Given the description of an element on the screen output the (x, y) to click on. 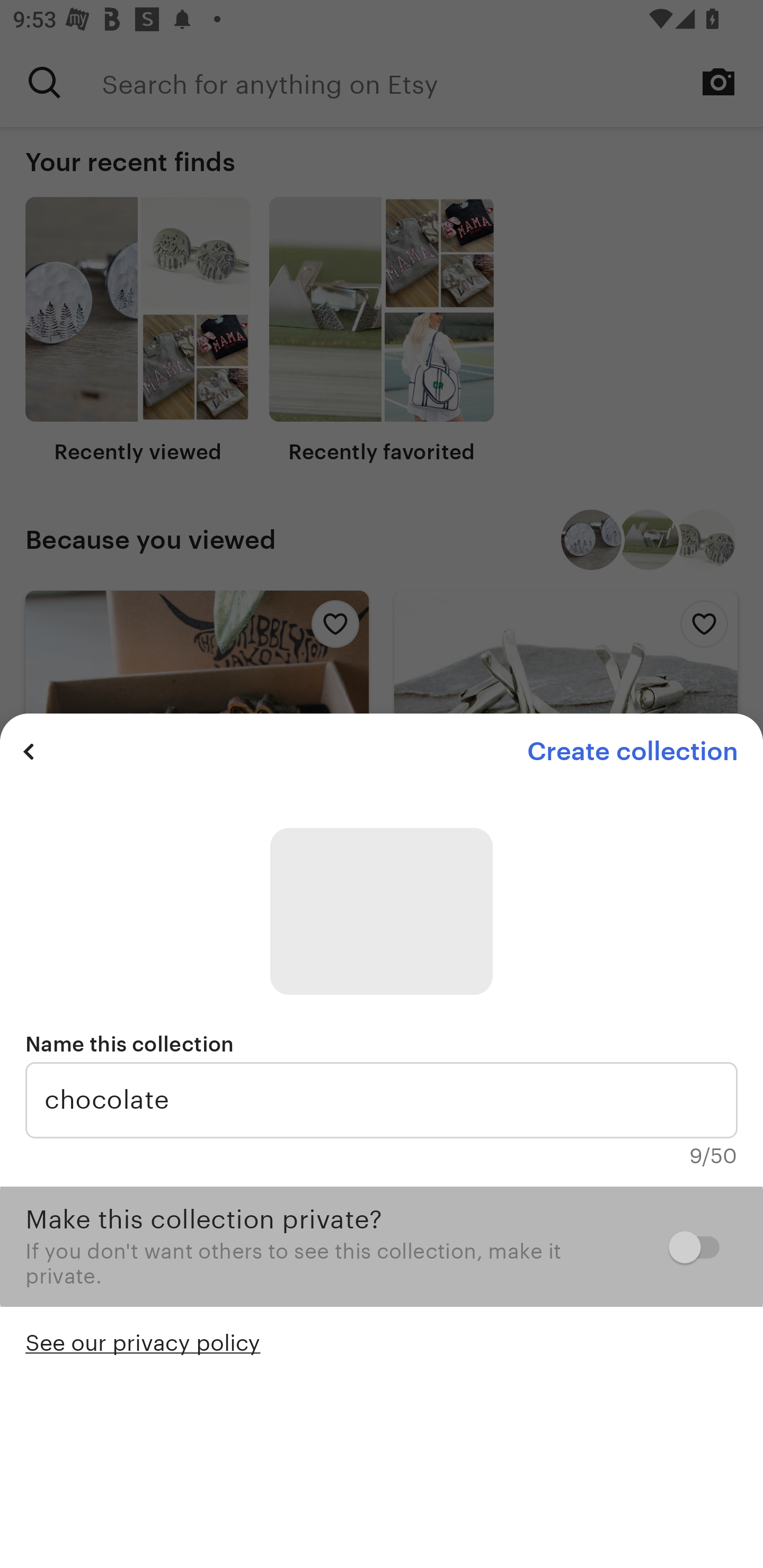
Previous (28, 751)
Create collection (632, 751)
chocolate (381, 1099)
See our privacy policy (142, 1341)
